Given the description of an element on the screen output the (x, y) to click on. 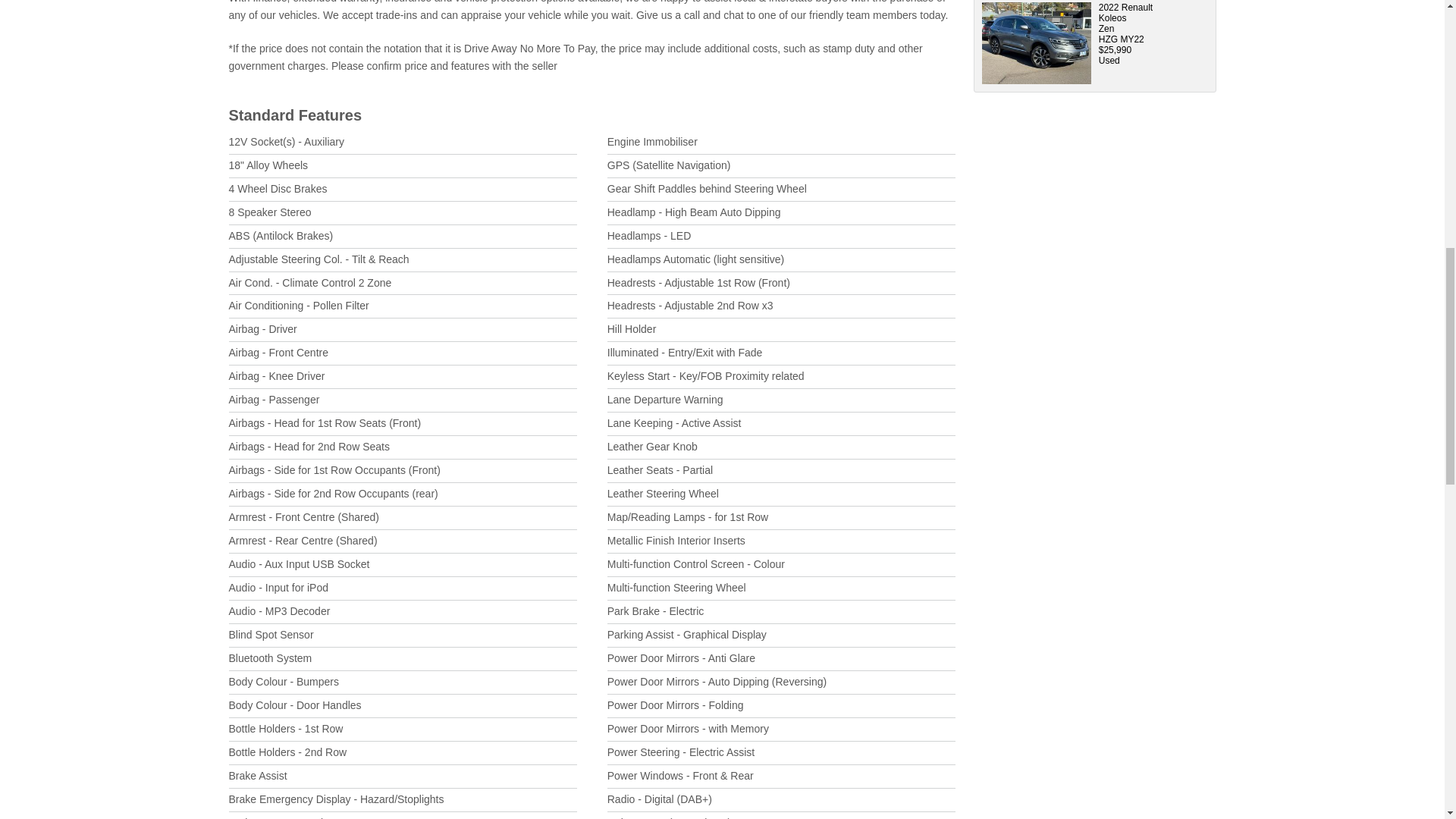
Submit Enquiry (1085, 114)
Submit Enquiry (1139, 56)
Submit Enquiry (1085, 241)
Submit Enquiry (1085, 4)
